Given the description of an element on the screen output the (x, y) to click on. 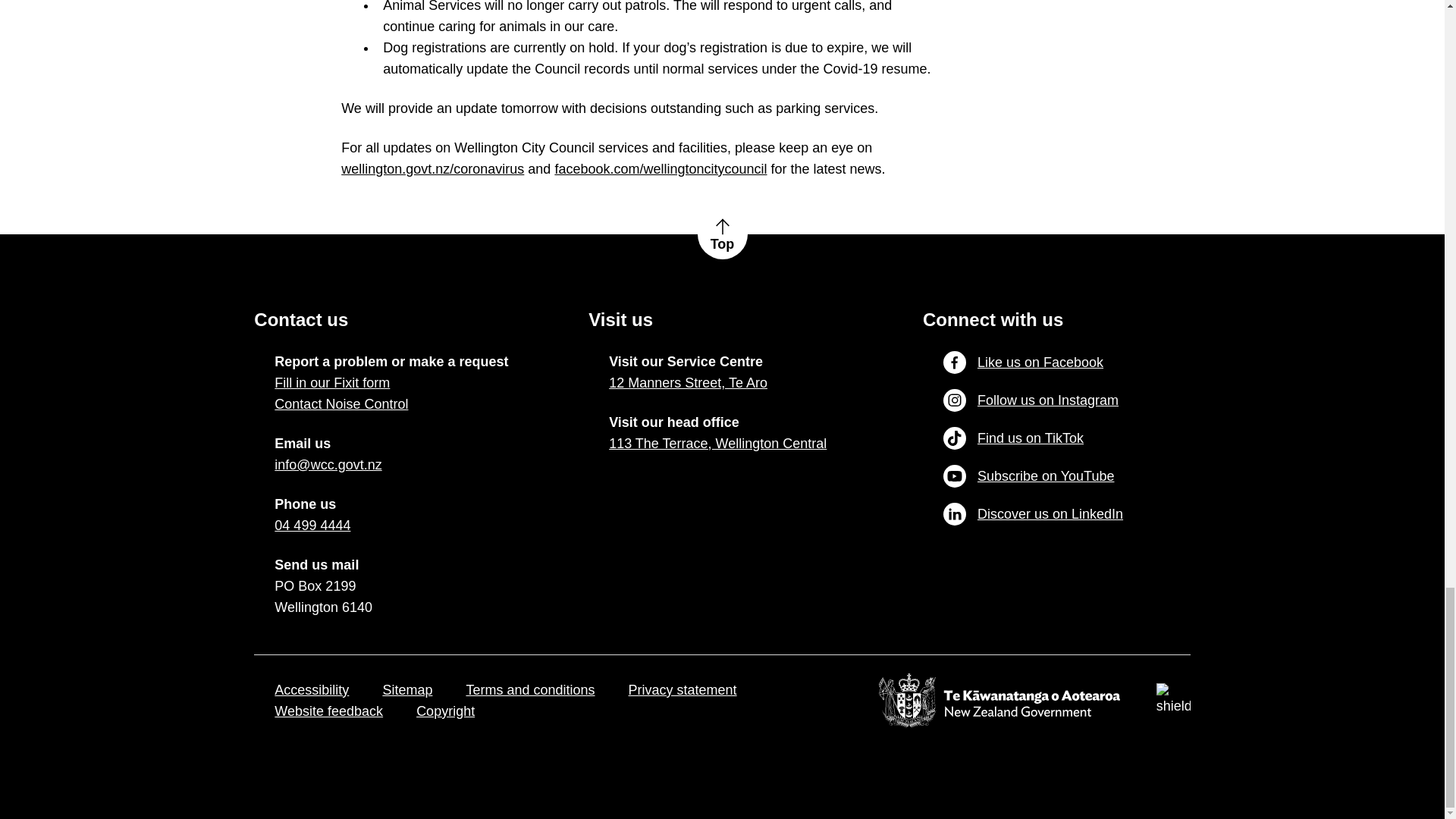
04 499 4444 (312, 525)
Subscribe on YouTube (1028, 476)
Link opens in a new window (312, 525)
Discover us on LinkedIn (1032, 513)
Fill in our Fixit form (332, 382)
Find us on TikTok (1013, 437)
Website feedback (328, 711)
Follow us on Instagram (1030, 400)
Privacy statement (682, 690)
Sitemap (406, 690)
Link opens in a new window (328, 711)
113 The Terrace, Wellington Central (717, 443)
Contact Noise Control (341, 403)
12 Manners Street, Te Aro (687, 382)
Link opens in a new window (687, 382)
